Given the description of an element on the screen output the (x, y) to click on. 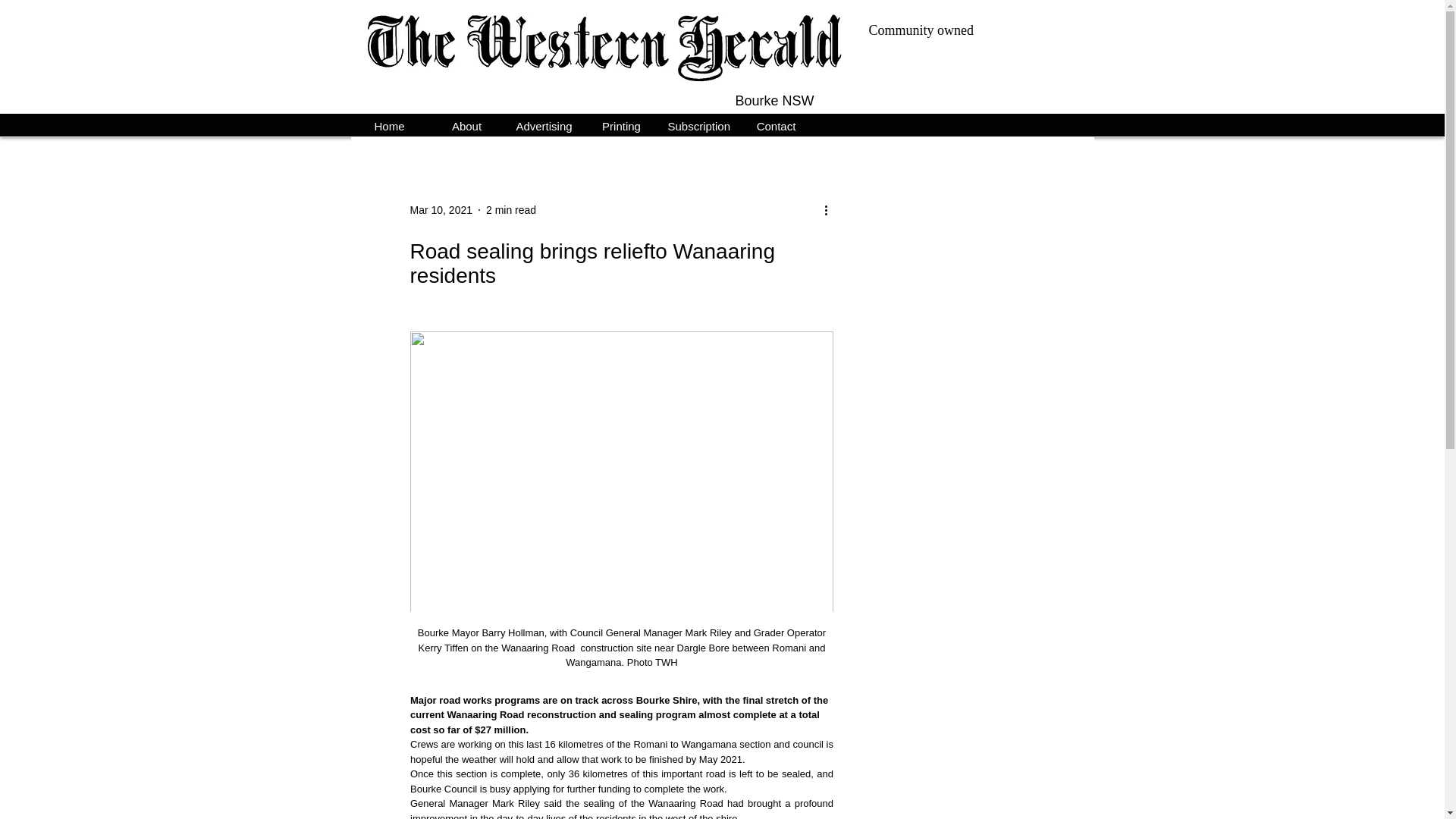
2 min read (510, 209)
Advertising (543, 124)
Subscription (697, 124)
Printing (620, 124)
About (466, 124)
Contact (774, 124)
Mar 10, 2021 (440, 209)
Home (389, 124)
